Given the description of an element on the screen output the (x, y) to click on. 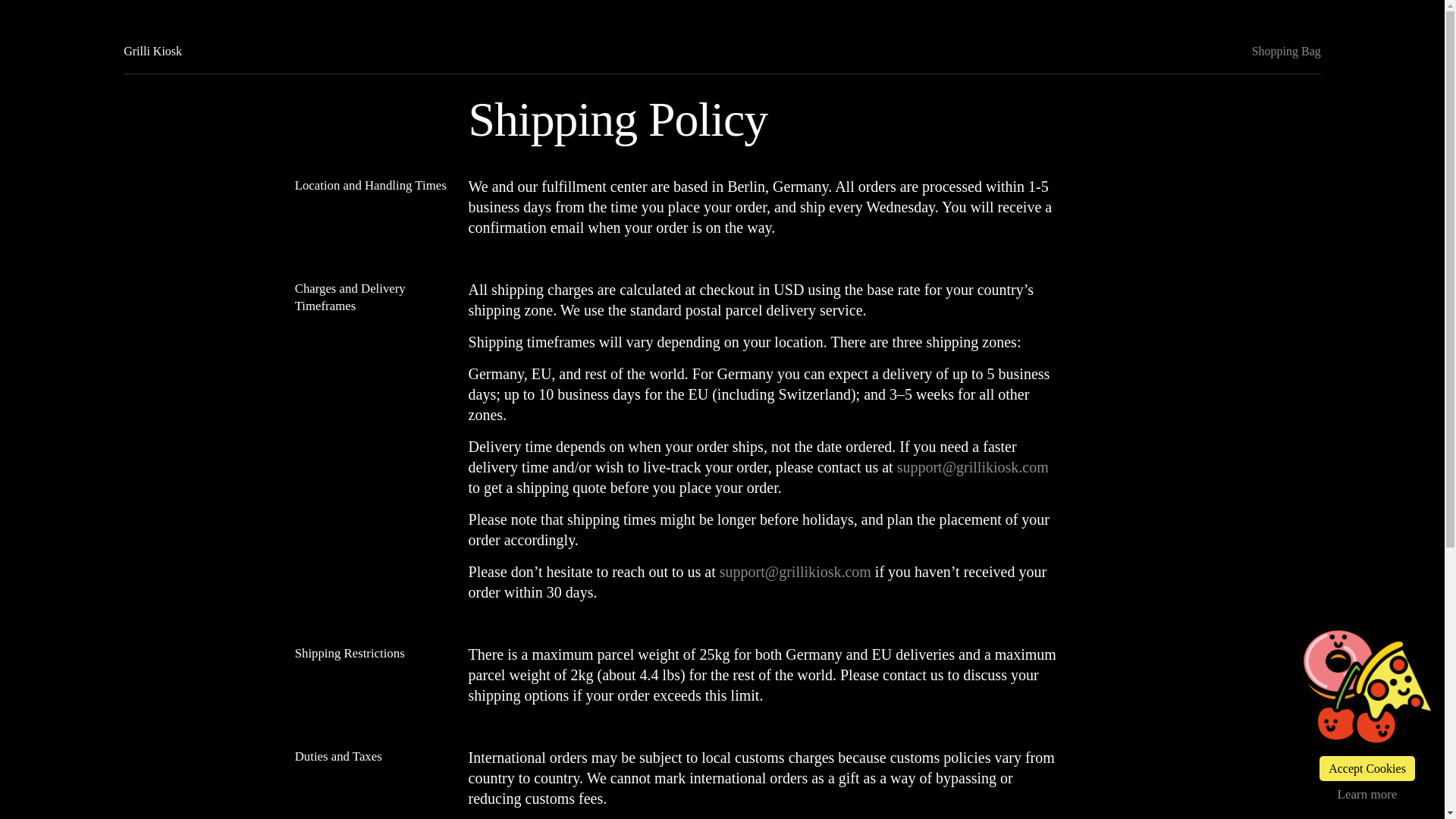
Grilli Kiosk (152, 51)
